Given the description of an element on the screen output the (x, y) to click on. 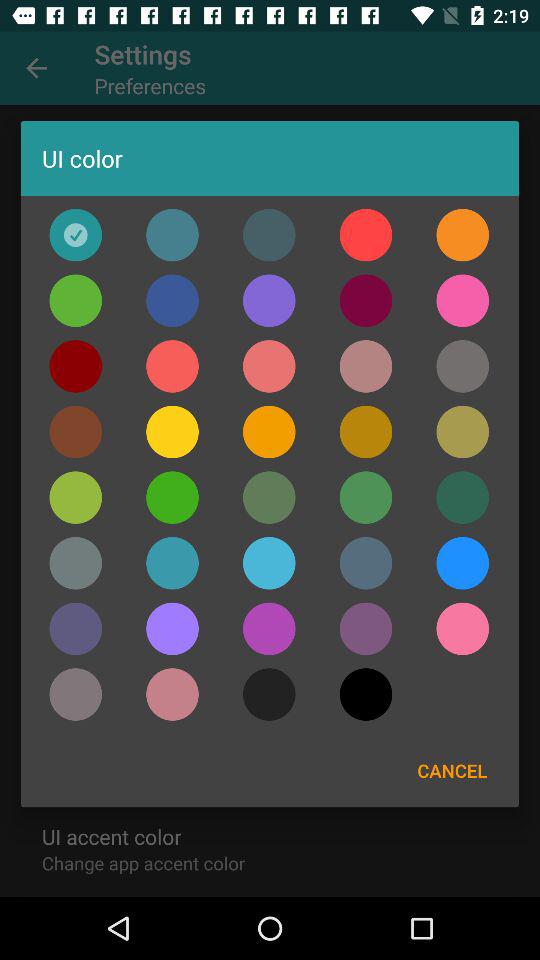
set the colour (269, 694)
